Given the description of an element on the screen output the (x, y) to click on. 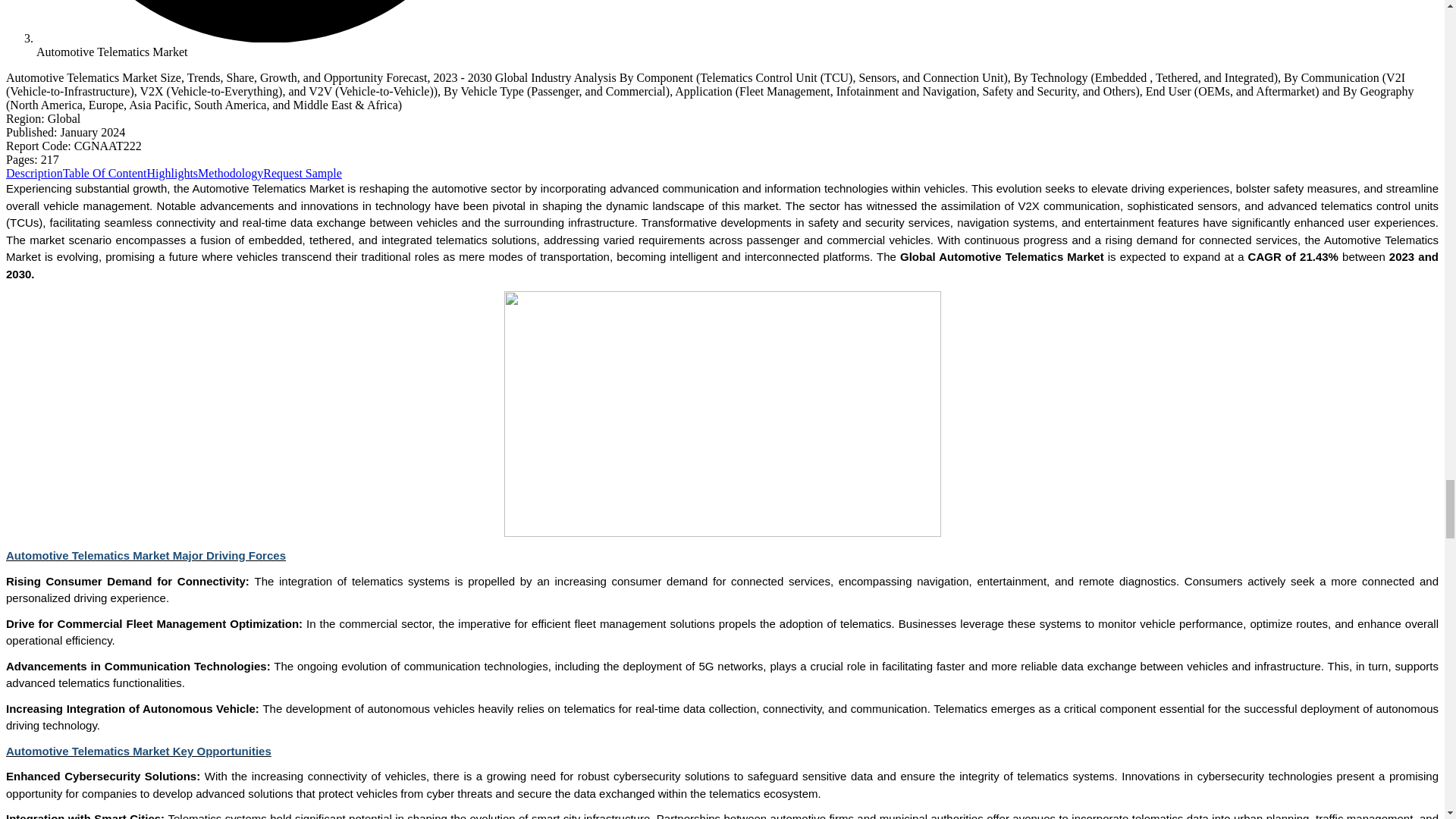
Request Sample (302, 173)
Methodology (230, 173)
Table Of Content (104, 173)
Highlights (172, 173)
Description (33, 173)
